Given the description of an element on the screen output the (x, y) to click on. 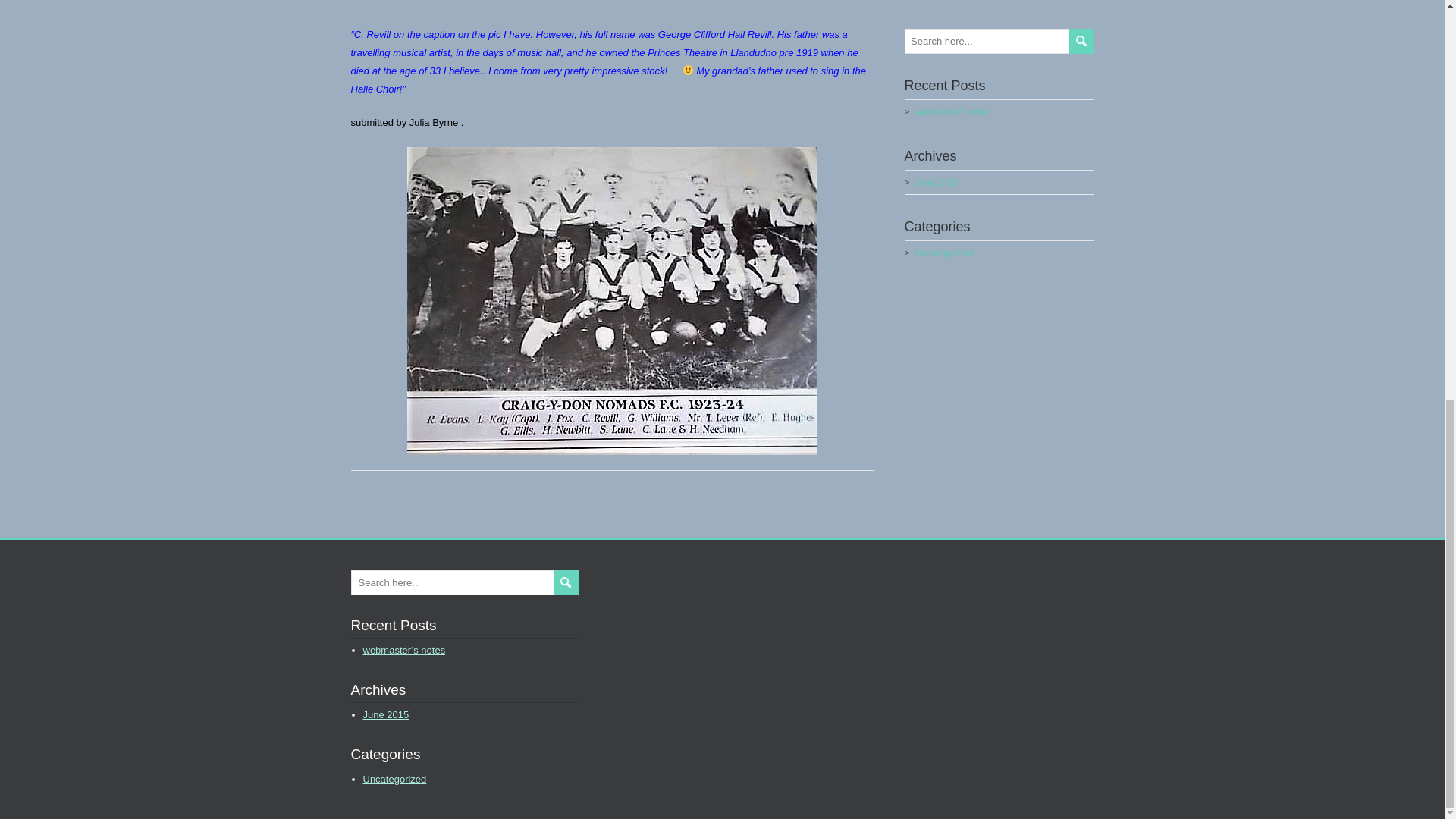
smile emoticon (681, 70)
Uncategorized (394, 778)
June 2015 (385, 714)
June 2015 (935, 182)
Uncategorized (943, 253)
